Given the description of an element on the screen output the (x, y) to click on. 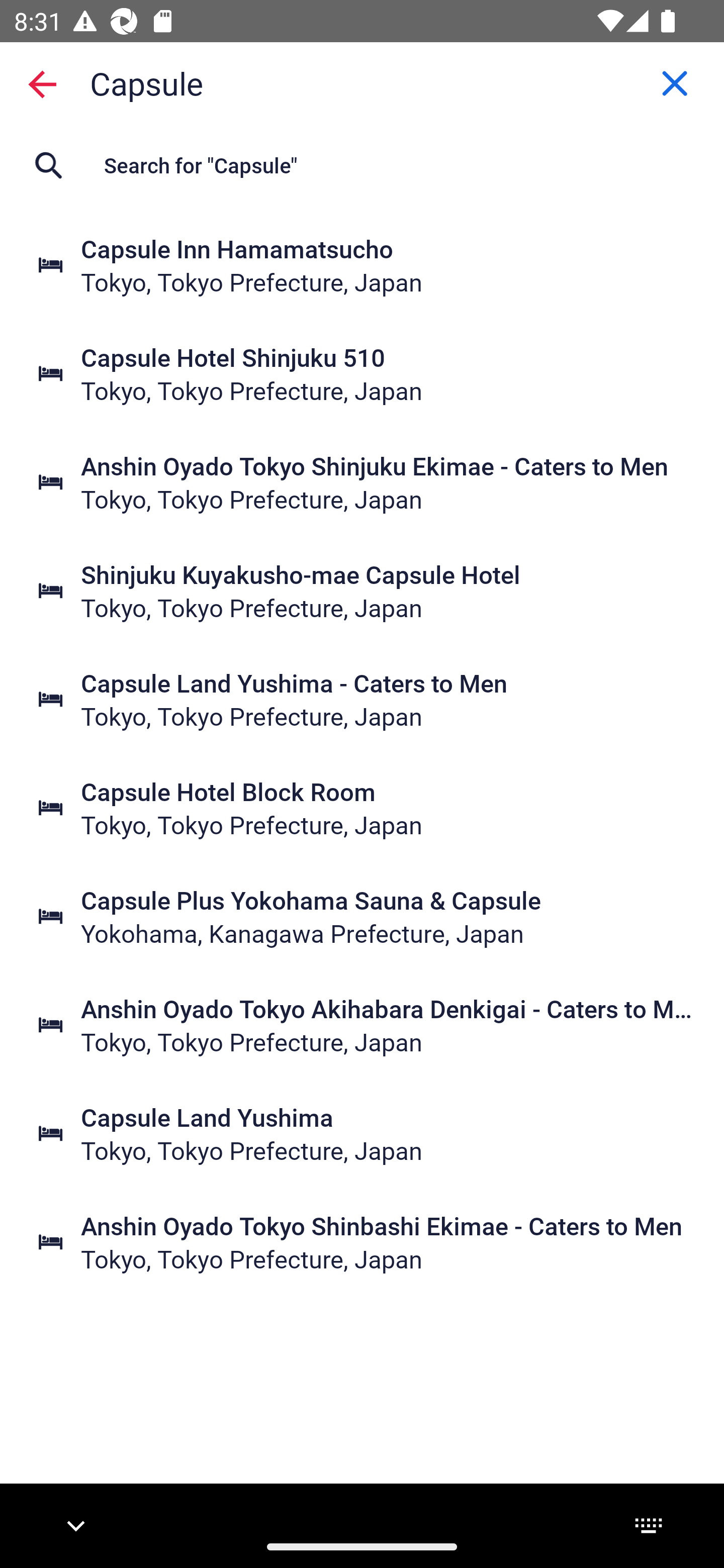
Clear query (674, 82)
Property name, Capsule (361, 82)
Back to search screen (41, 83)
Search for "Capsule" (362, 165)
